Given the description of an element on the screen output the (x, y) to click on. 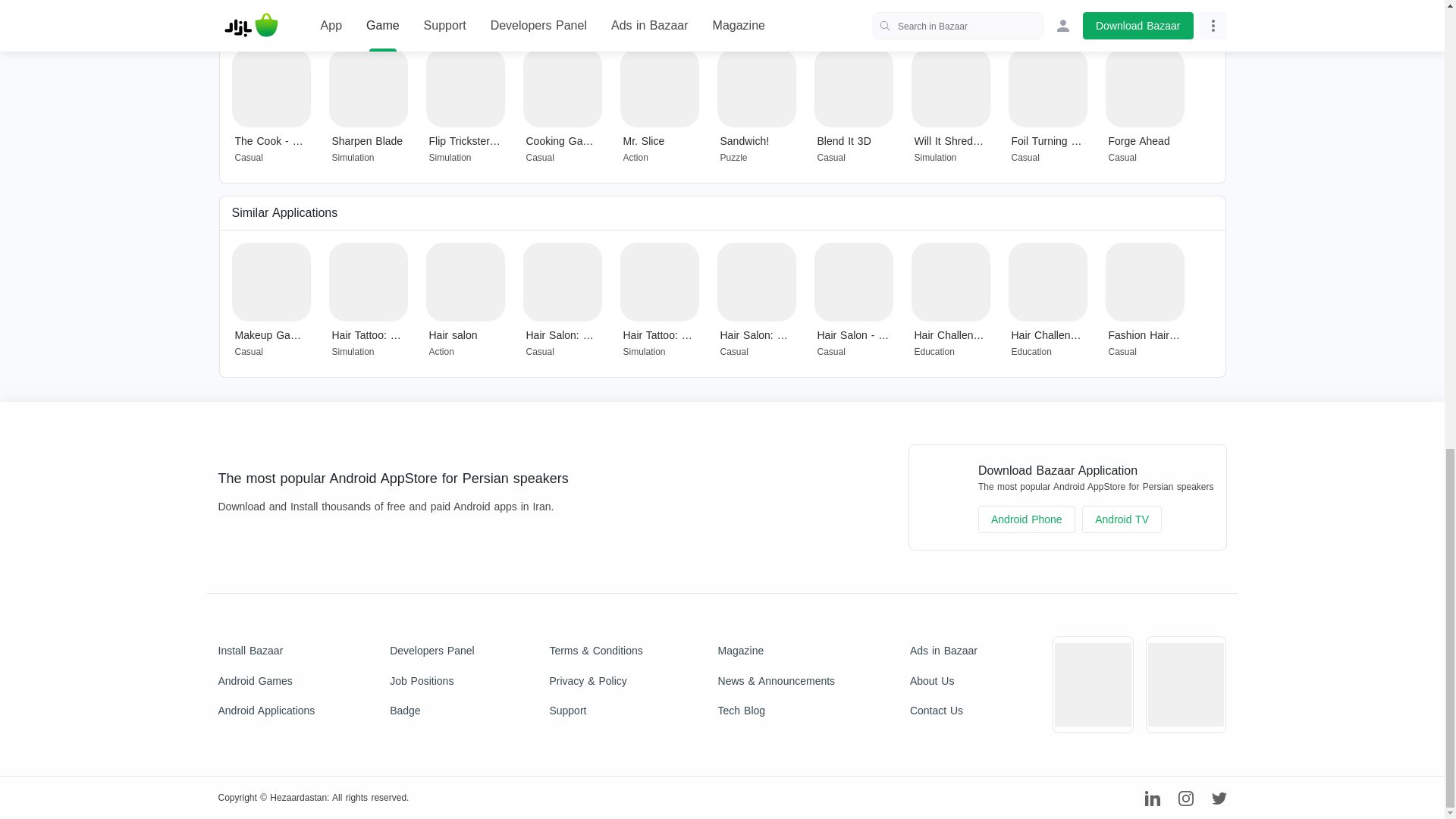
Android Games (266, 681)
Install Bazaar (266, 650)
